Given the description of an element on the screen output the (x, y) to click on. 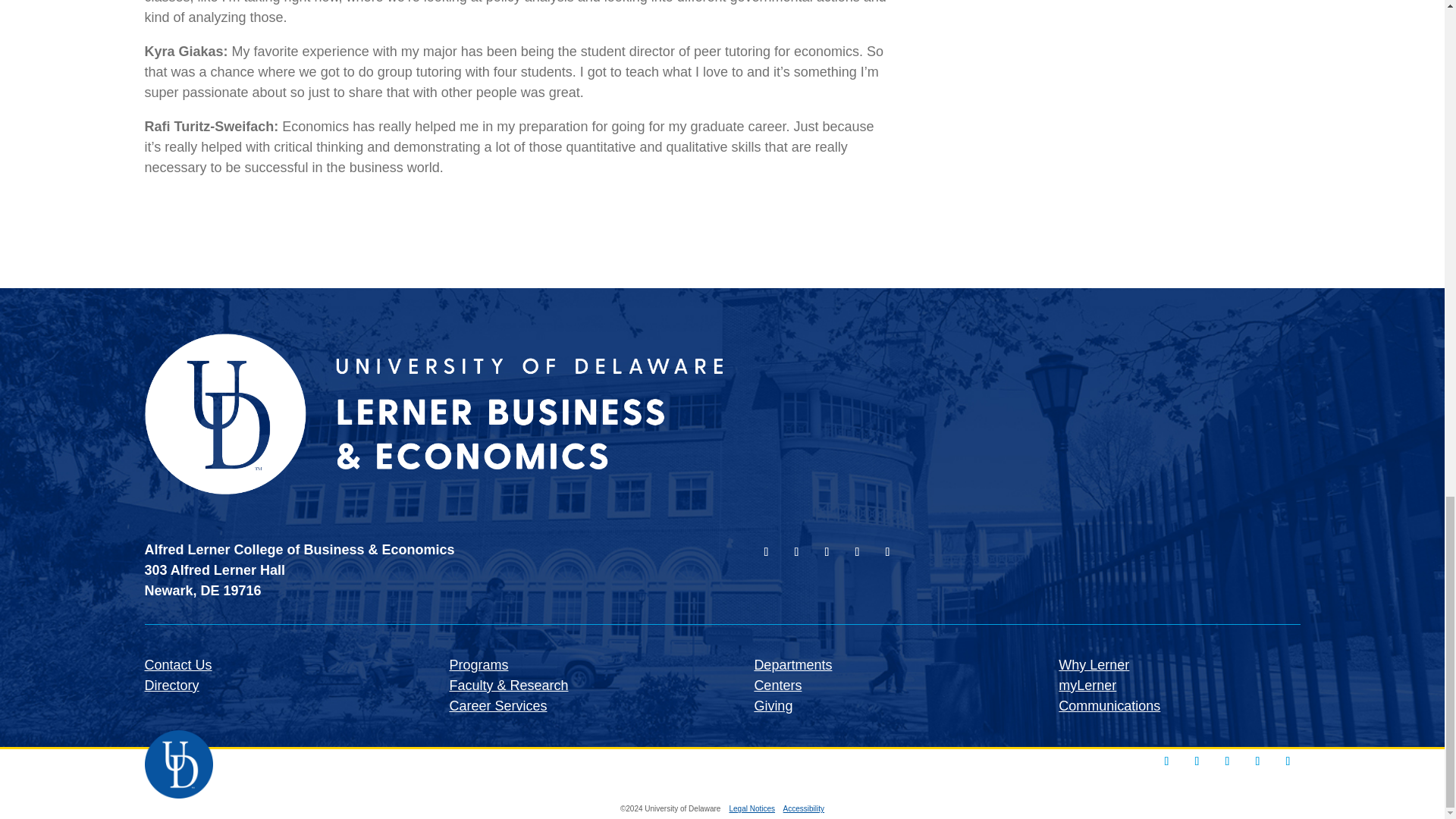
ud-lerner-monogram (433, 413)
ud-monogram-2018 (178, 764)
Follow on Youtube (1256, 761)
Follow on Instagram (1165, 761)
Follow on LinkedIn (1226, 761)
Follow on LinkedIn (825, 551)
Follow on Facebook (796, 551)
Follow on Facebook (1196, 761)
Follow on Youtube (856, 551)
Follow on X (1287, 761)
Follow on X (887, 551)
Follow on Instagram (765, 551)
